Given the description of an element on the screen output the (x, y) to click on. 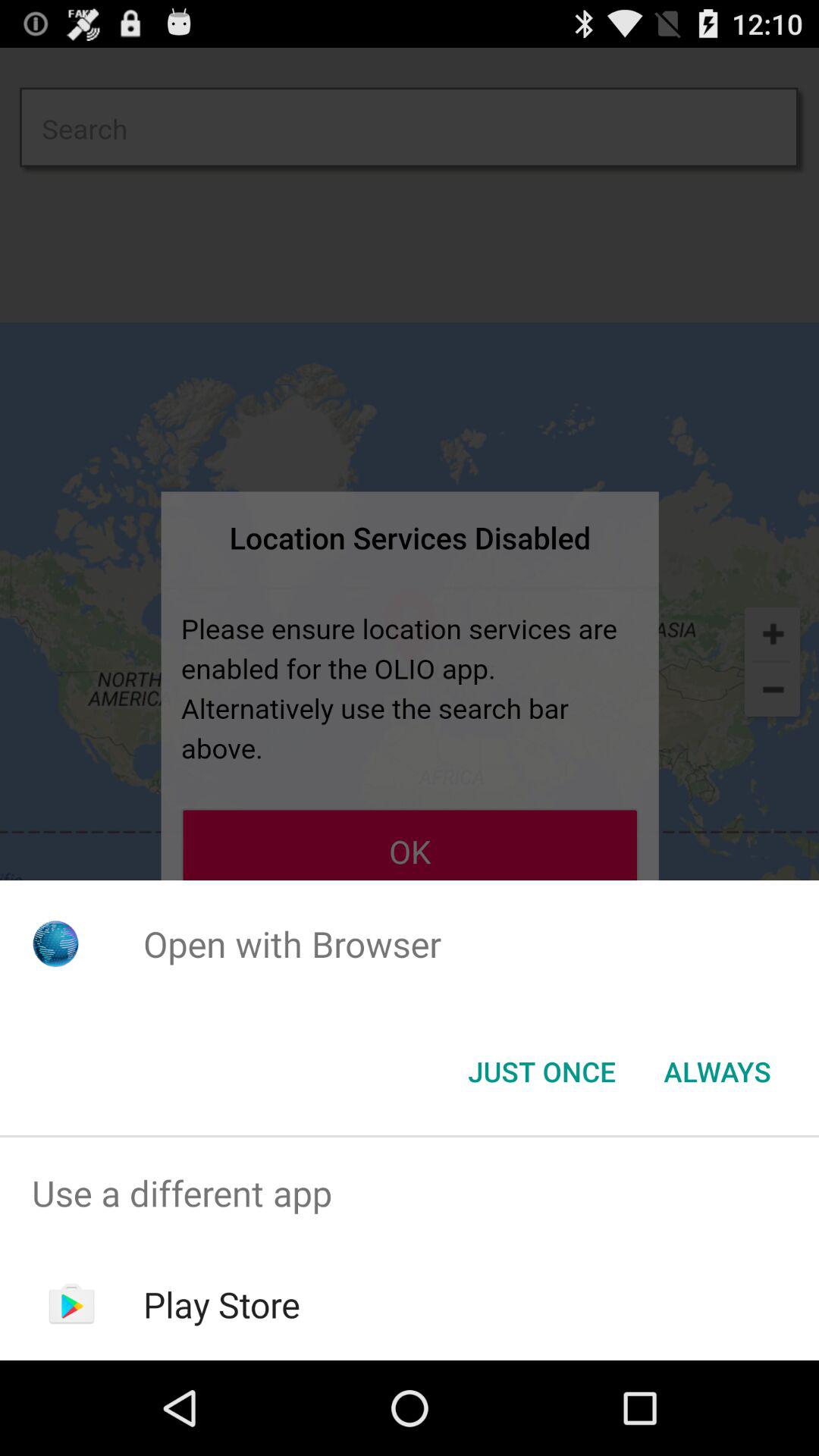
tap the item to the right of just once (717, 1071)
